Given the description of an element on the screen output the (x, y) to click on. 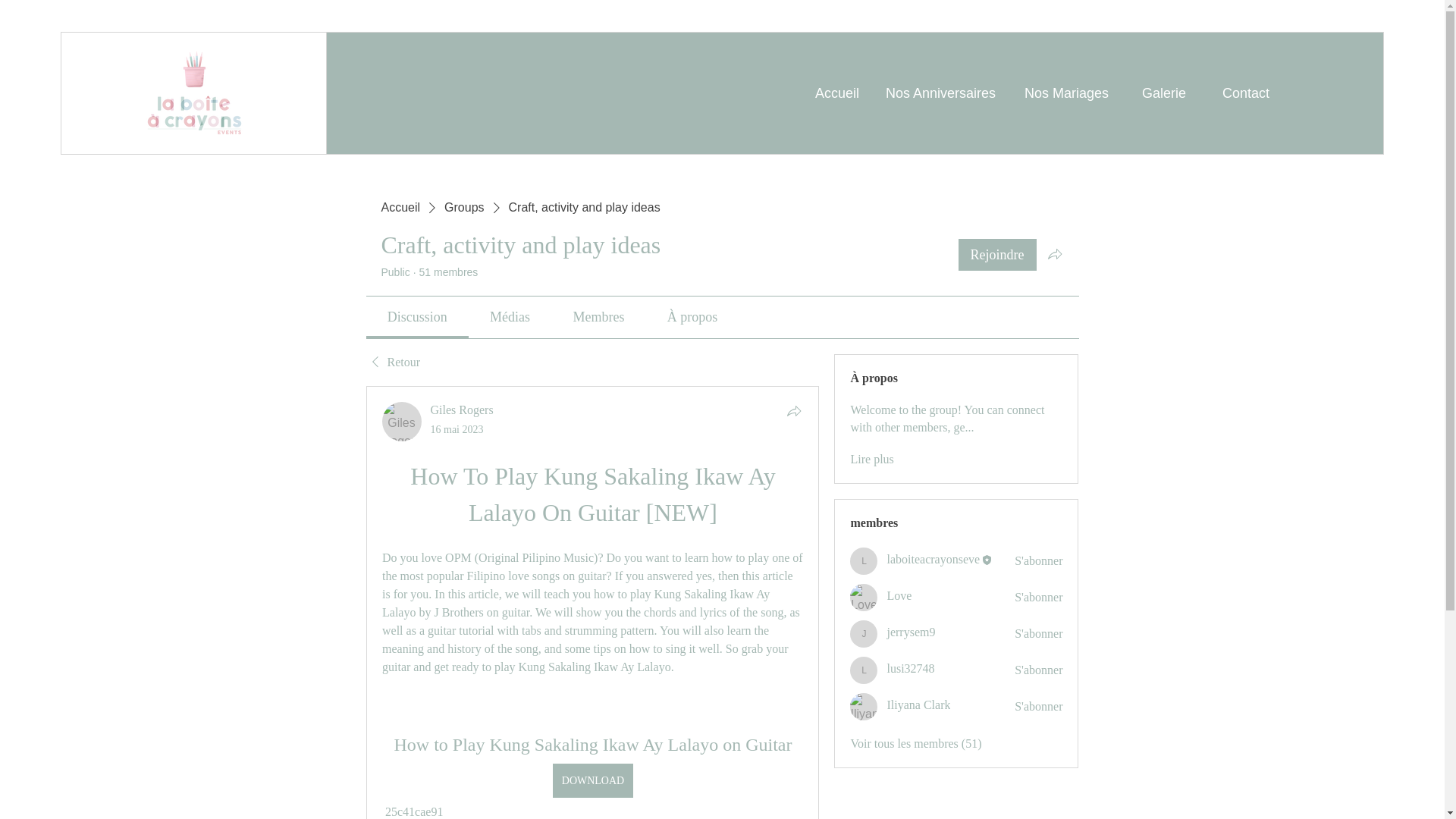
S'abonner (1038, 706)
S'abonner (1038, 597)
Giles Rogers (401, 421)
Nos Anniversaires (938, 93)
Iliyana Clark (863, 706)
laboiteacrayonseve (932, 558)
S'abonner (1038, 669)
Retour (392, 362)
Love (863, 596)
Nos Mariages (1063, 93)
Groups (463, 207)
S'abonner (1038, 560)
lusi32748 (863, 669)
Rejoindre (997, 255)
S'abonner (1038, 633)
